Given the description of an element on the screen output the (x, y) to click on. 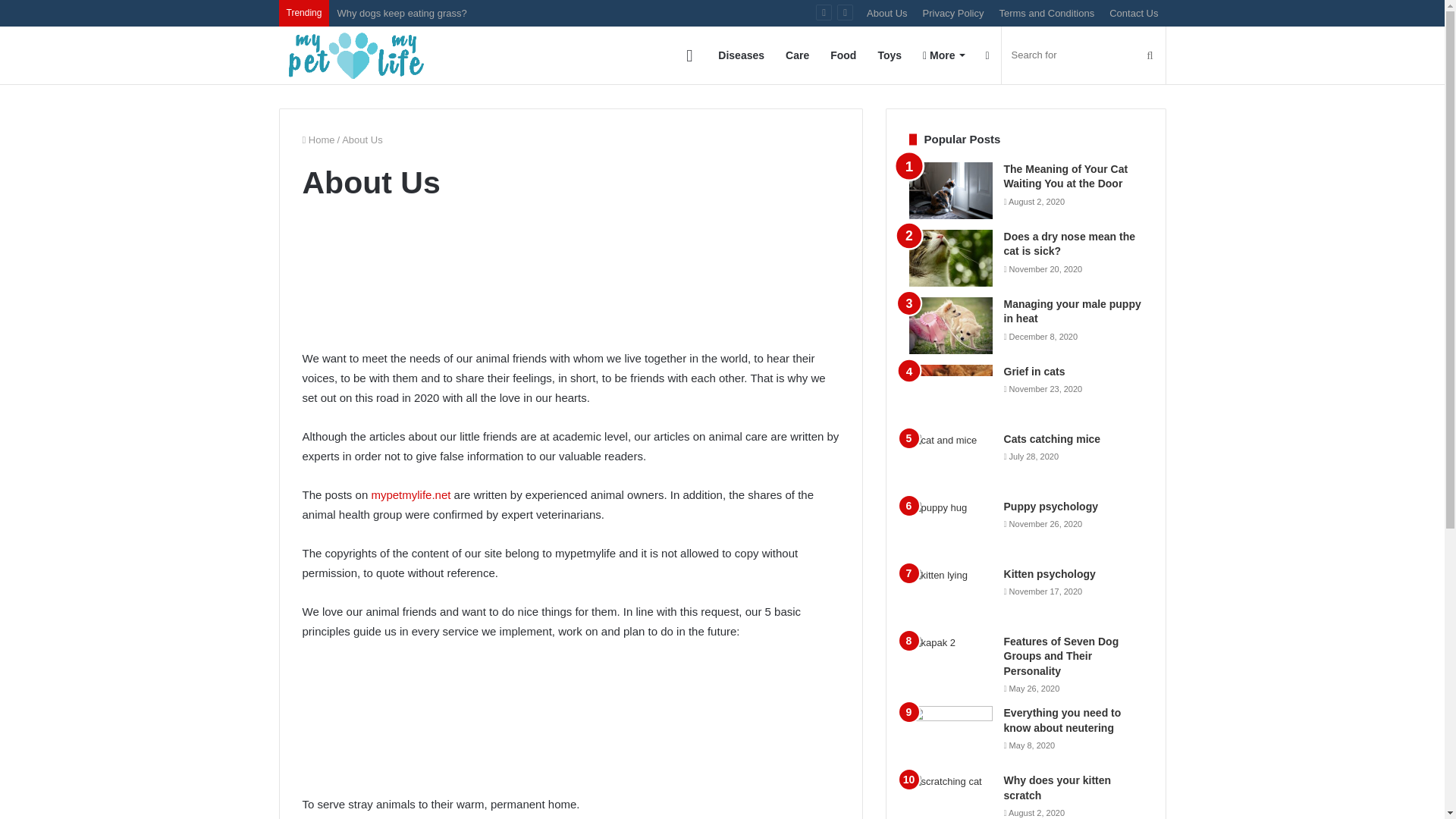
Why dogs keep eating grass? (400, 12)
Terms and Conditions (1046, 13)
The Meaning of Your Cat Waiting You at the Door (950, 190)
About Us (886, 13)
Cats catching mice (1052, 438)
Everything you need to know about neutering (1062, 719)
Why does your kitten scratch (1058, 787)
Kitten psychology (1050, 573)
Cats catching mice (1052, 438)
Puppy psychology (1050, 506)
